Given the description of an element on the screen output the (x, y) to click on. 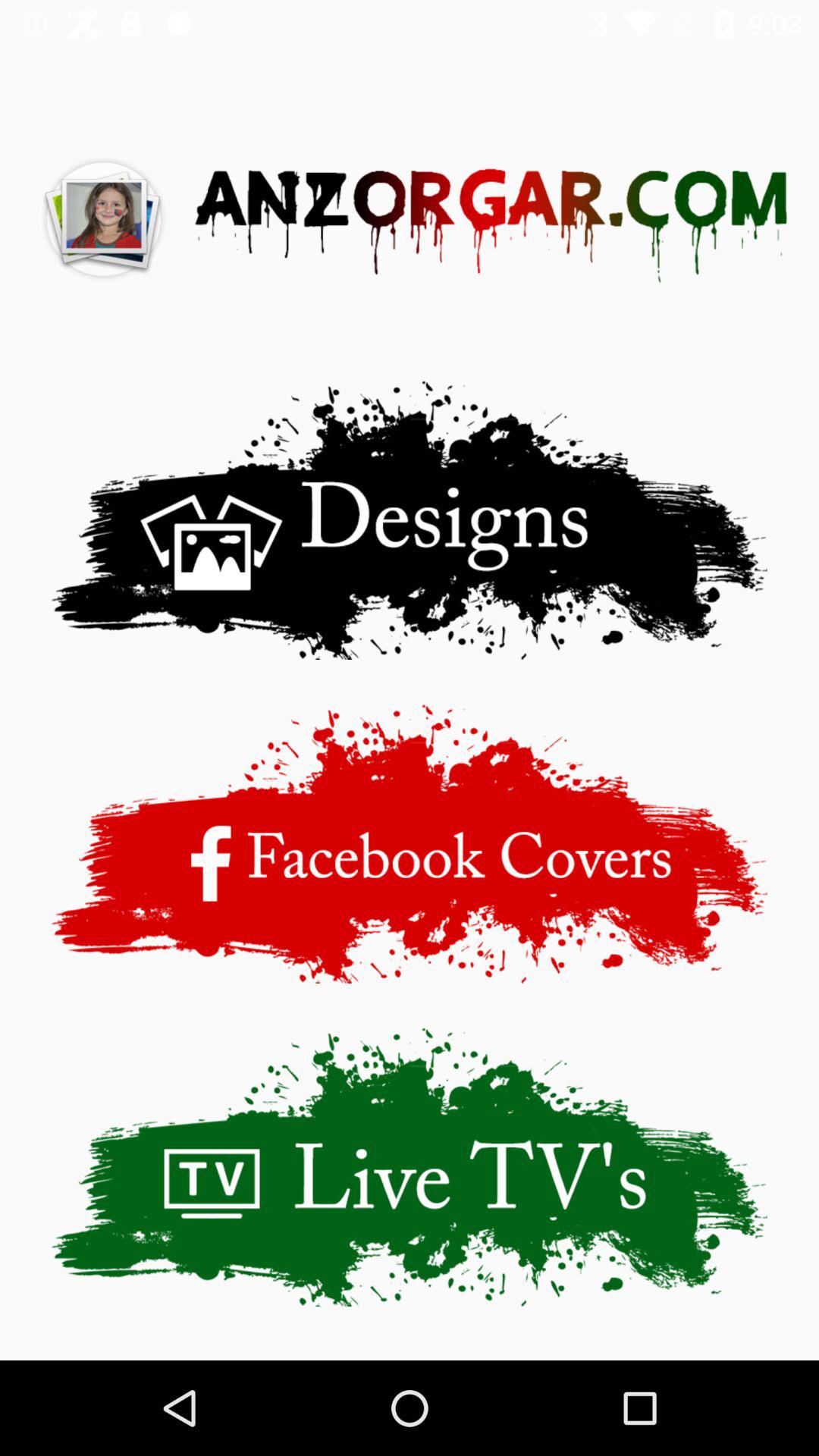
view the app designs (409, 520)
